Given the description of an element on the screen output the (x, y) to click on. 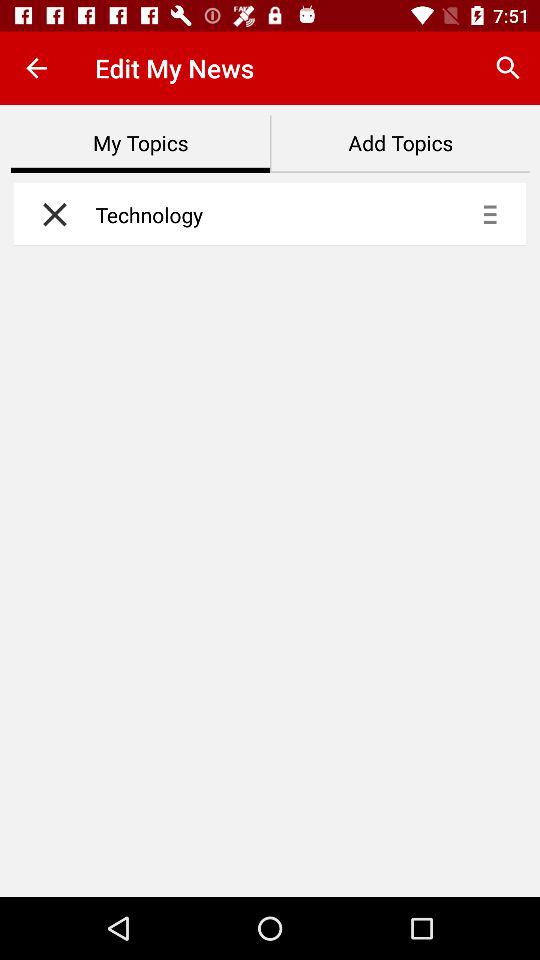
remove topic technology (49, 214)
